Given the description of an element on the screen output the (x, y) to click on. 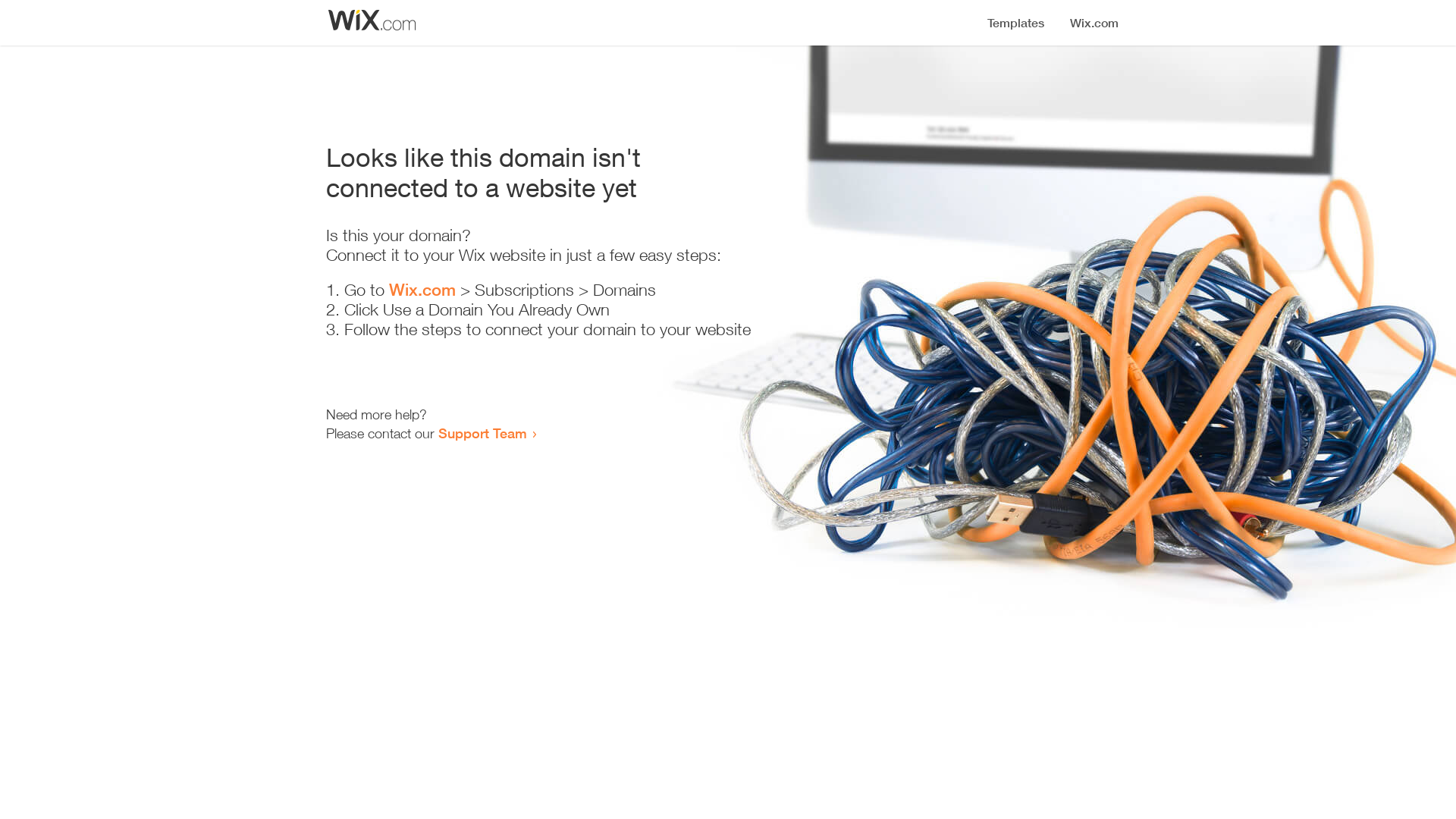
Support Team Element type: text (482, 432)
Wix.com Element type: text (422, 289)
